Given the description of an element on the screen output the (x, y) to click on. 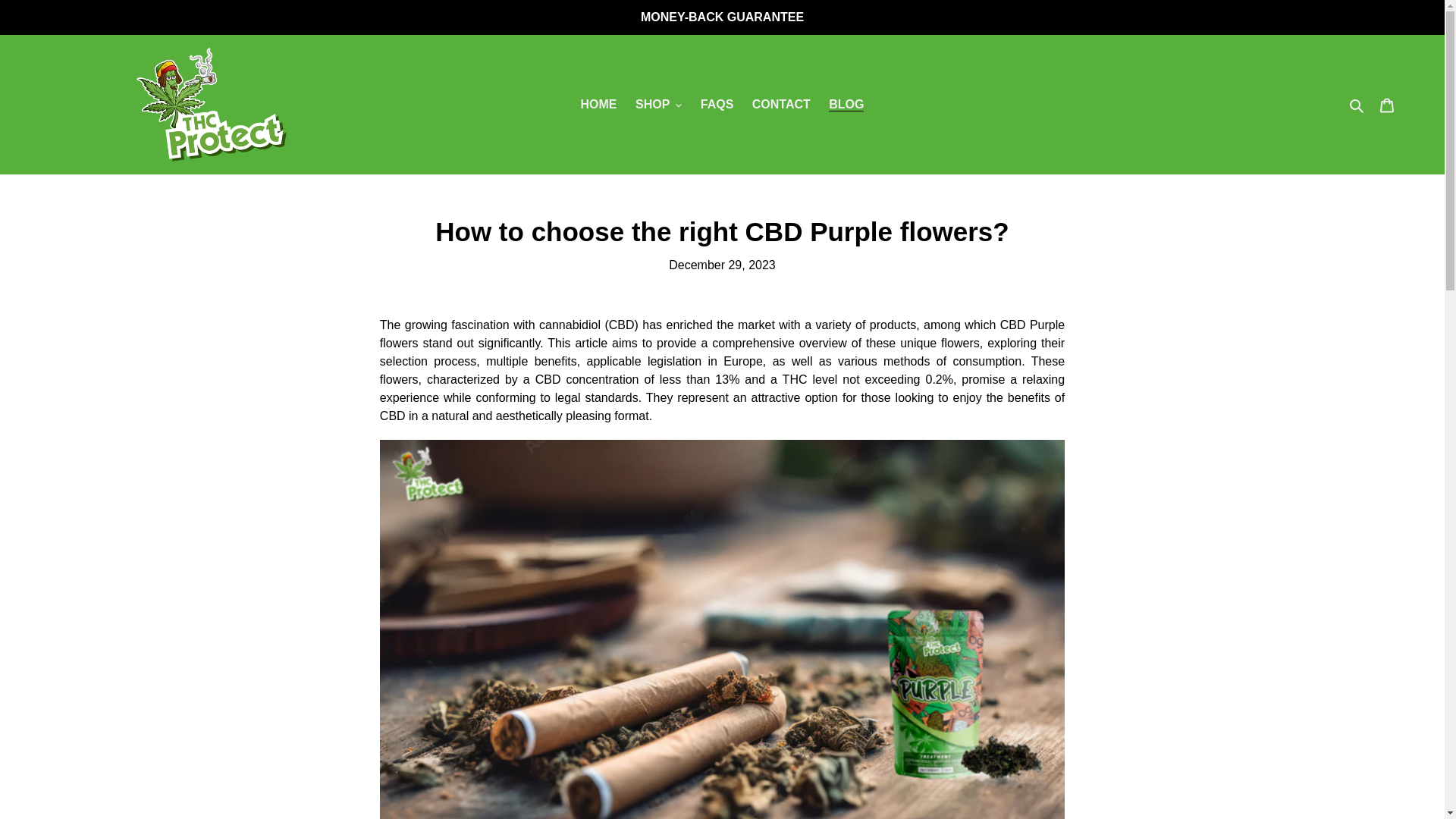
SEARCH (1357, 104)
BLOG (845, 104)
CONTACT (781, 104)
Cart (1387, 104)
HOME (598, 104)
SHOP (657, 104)
FAQS (717, 104)
